Given the description of an element on the screen output the (x, y) to click on. 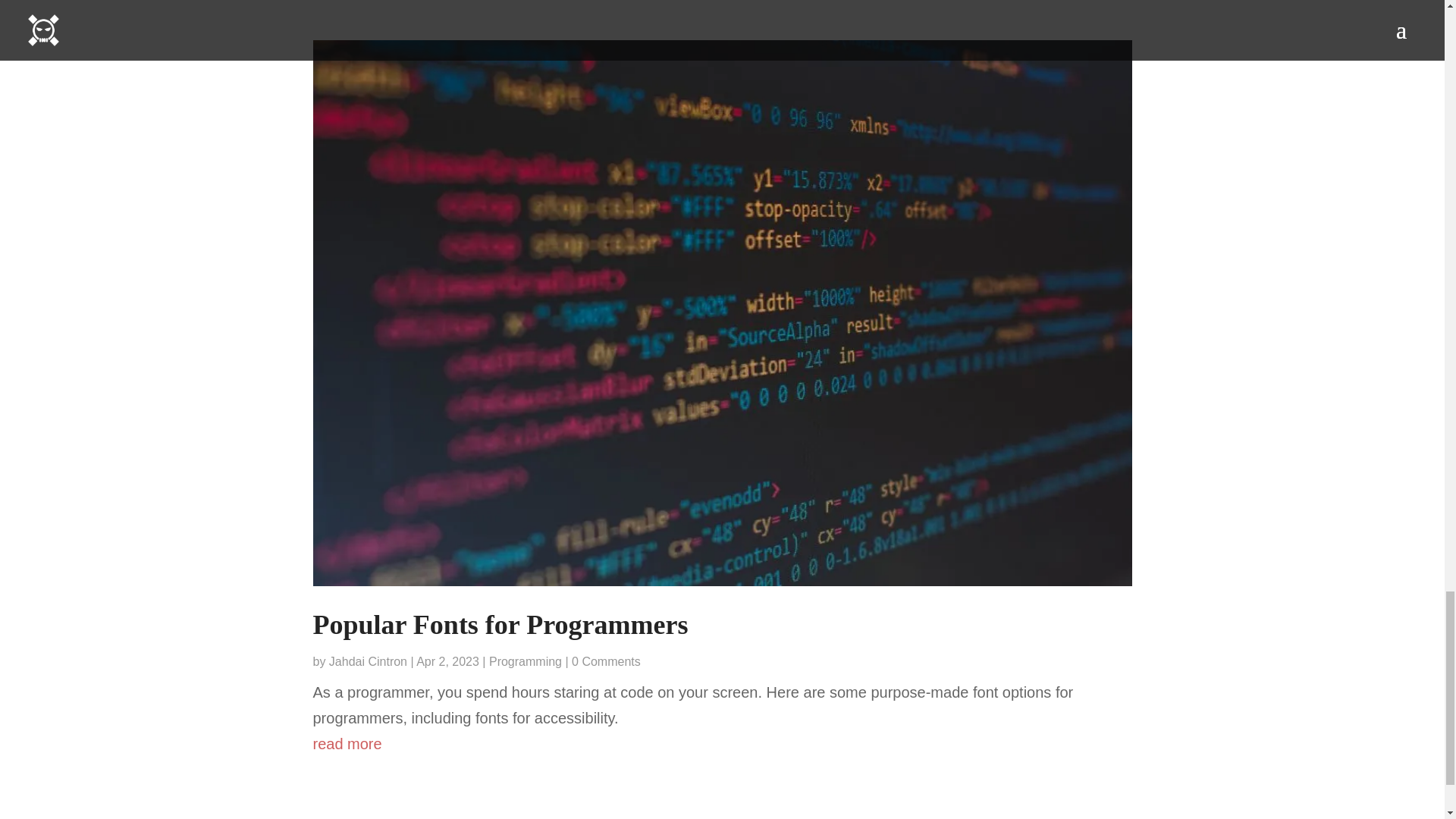
Programming (525, 661)
Jahdai Cintron (368, 661)
Popular Fonts for Programmers (500, 624)
read more (722, 743)
Posts by Jahdai Cintron (368, 661)
